Given the description of an element on the screen output the (x, y) to click on. 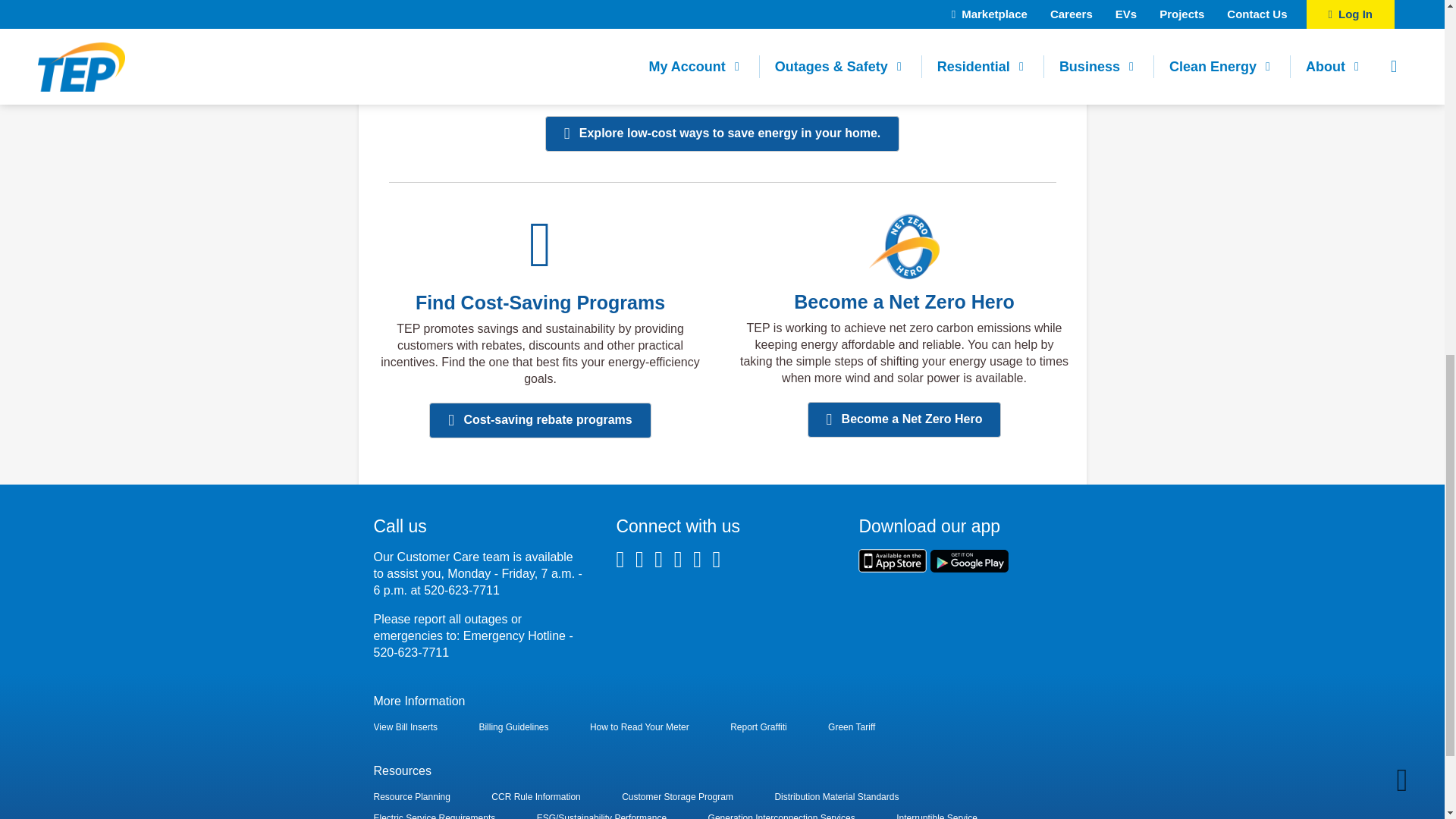
net-zero-hero-logo (904, 246)
Back to top (1401, 73)
residential-energy-saving-tips-homepage-mobile (903, 11)
